Given the description of an element on the screen output the (x, y) to click on. 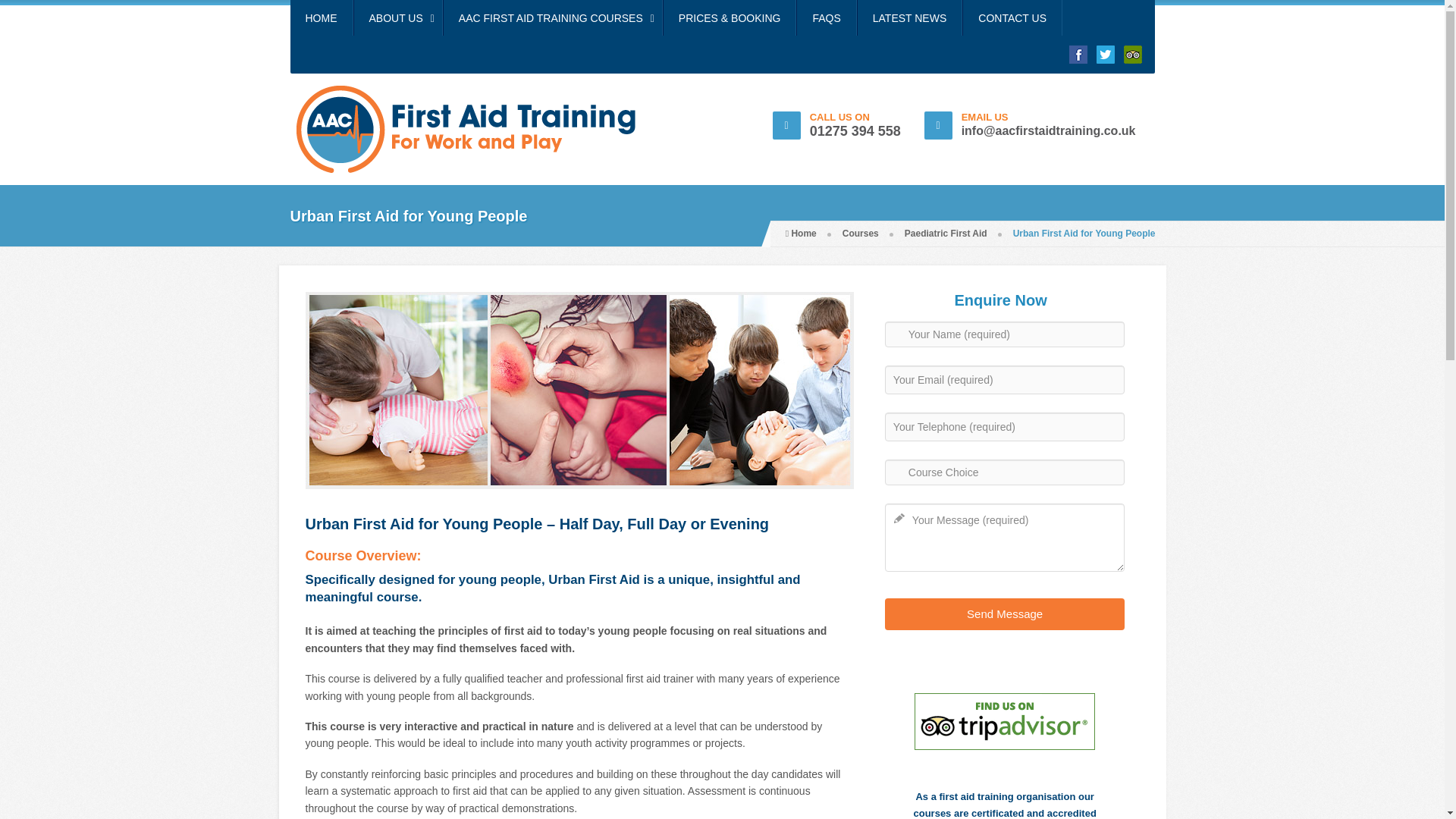
Home (801, 233)
Paediatric First Aid (945, 233)
AAC FIRST AID TRAINING COURSES (553, 18)
HOME (320, 18)
LATEST NEWS (909, 18)
CONTACT US (1011, 18)
Send Message (1005, 613)
paediatric-first-aid (579, 389)
ABOUT US (397, 18)
Courses (861, 233)
